Given the description of an element on the screen output the (x, y) to click on. 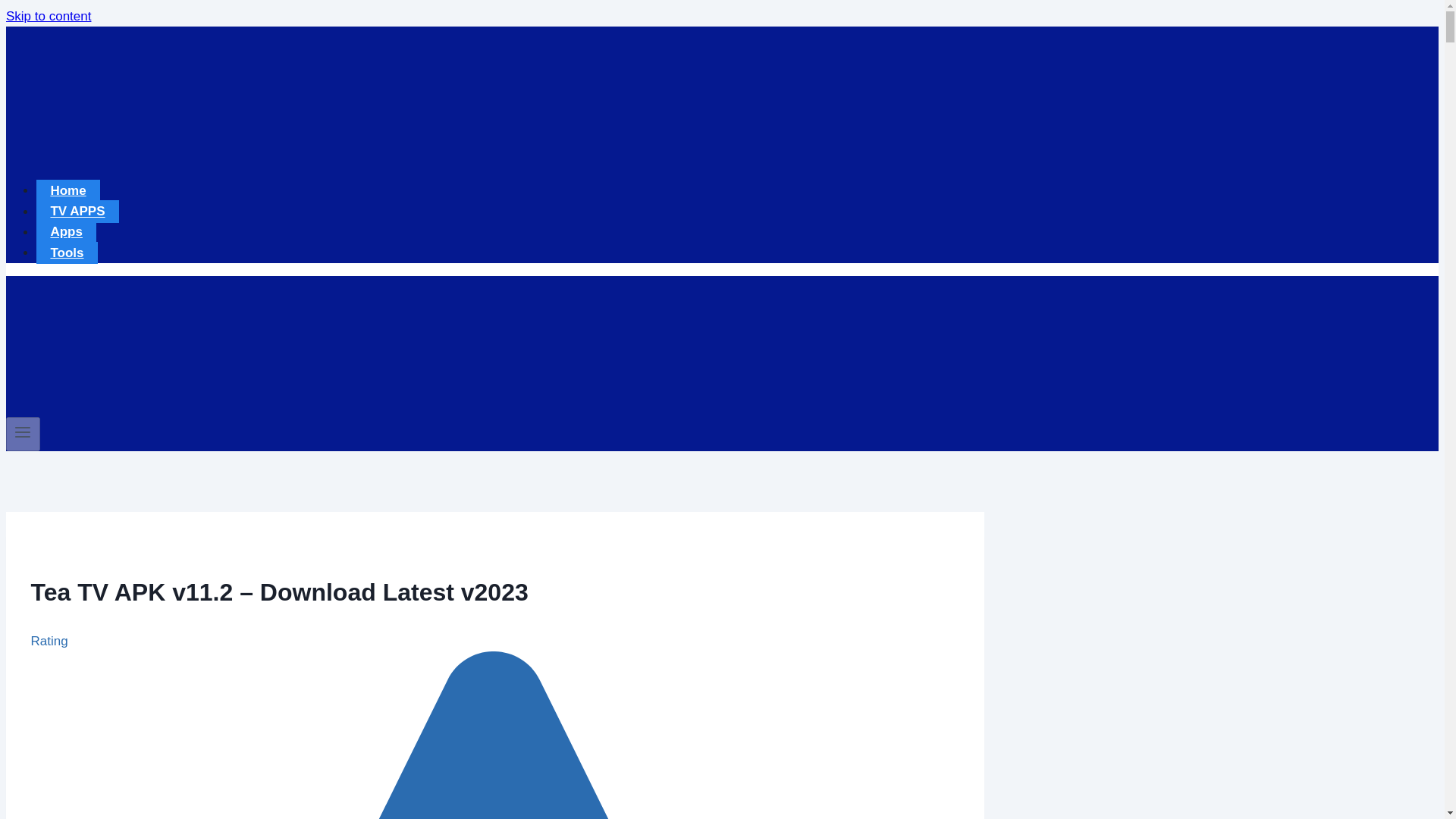
Tools (66, 251)
Toggle Menu (22, 432)
TV APPS (77, 210)
Skip to content (47, 16)
Toggle Menu (22, 433)
Apps (66, 231)
Home (68, 190)
Skip to content (47, 16)
